Given the description of an element on the screen output the (x, y) to click on. 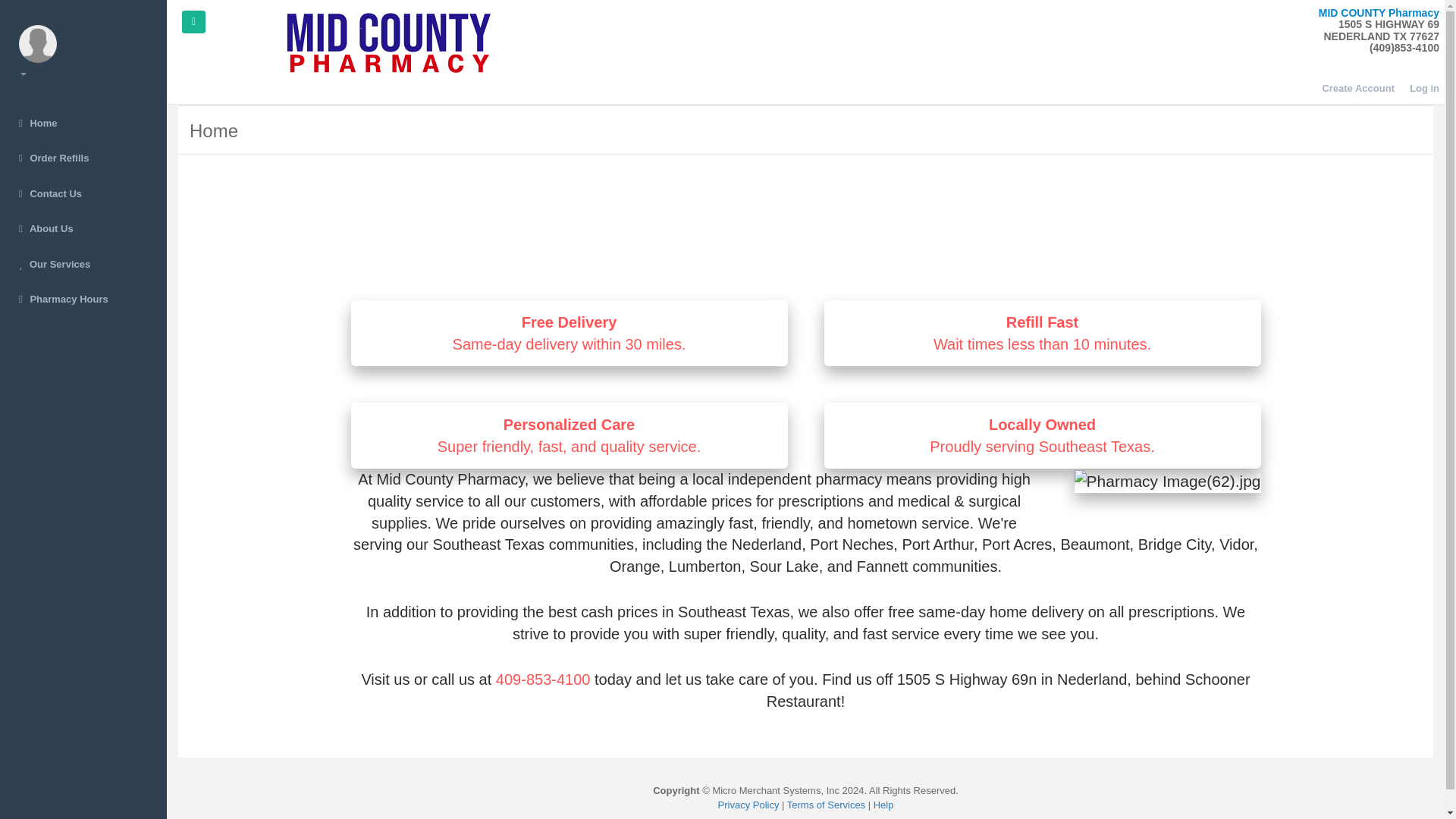
Home (83, 123)
About Us (83, 229)
Pharmacy Hours (83, 299)
Our Services (83, 264)
Pharmacy Hours (83, 299)
About Us (83, 229)
409-853-4100 (550, 678)
Home (83, 123)
Help (883, 804)
Create Account (1358, 88)
